Given the description of an element on the screen output the (x, y) to click on. 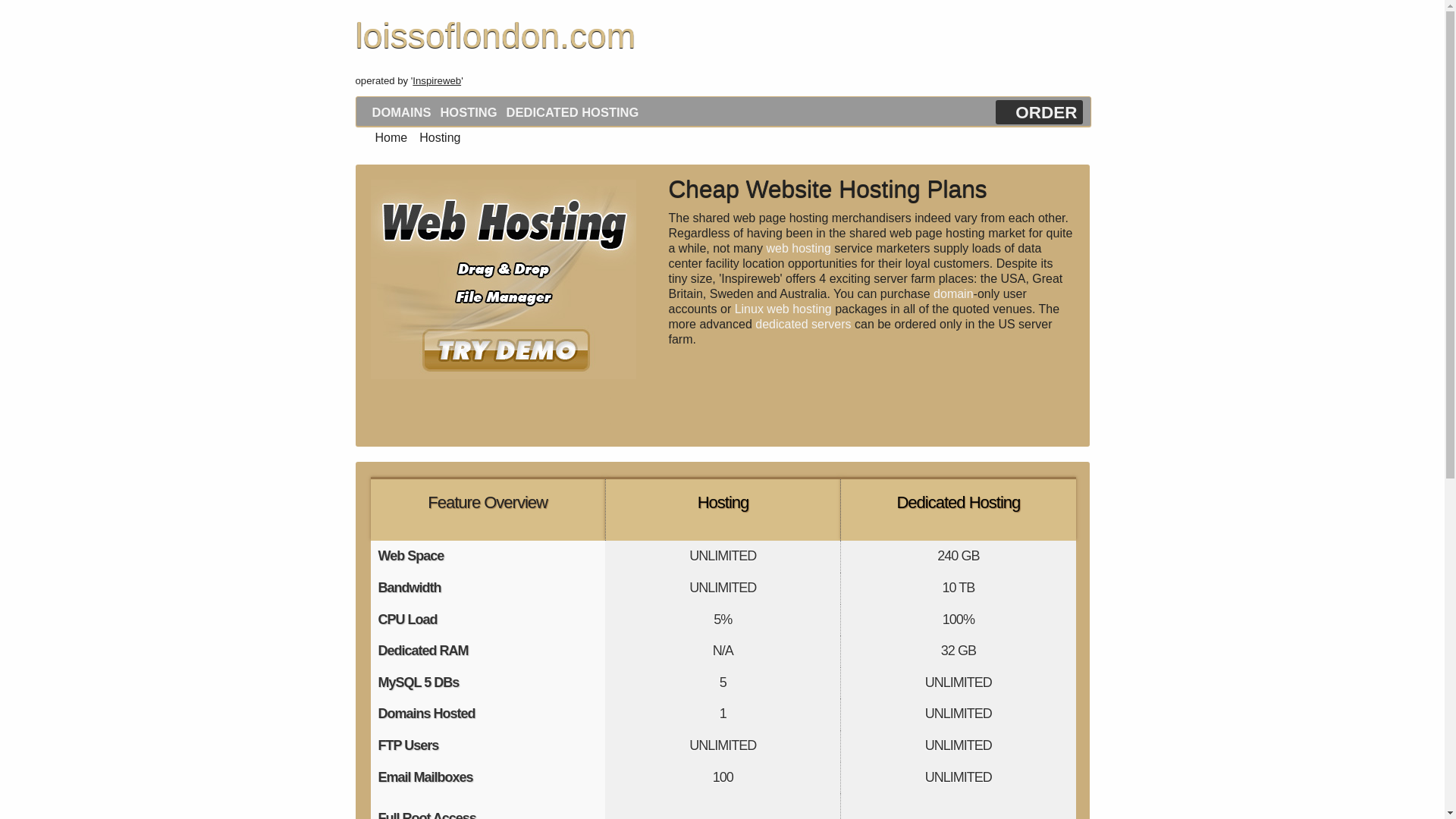
HOSTING (467, 112)
Web Hosting Packages (501, 279)
web hosting (797, 247)
ORDER (1045, 112)
DEDICATED HOSTING (572, 112)
Home (384, 137)
DOMAINS (401, 112)
Execute a Domain Name Check (628, 410)
Linux web hosting (783, 308)
Search (628, 410)
